Given the description of an element on the screen output the (x, y) to click on. 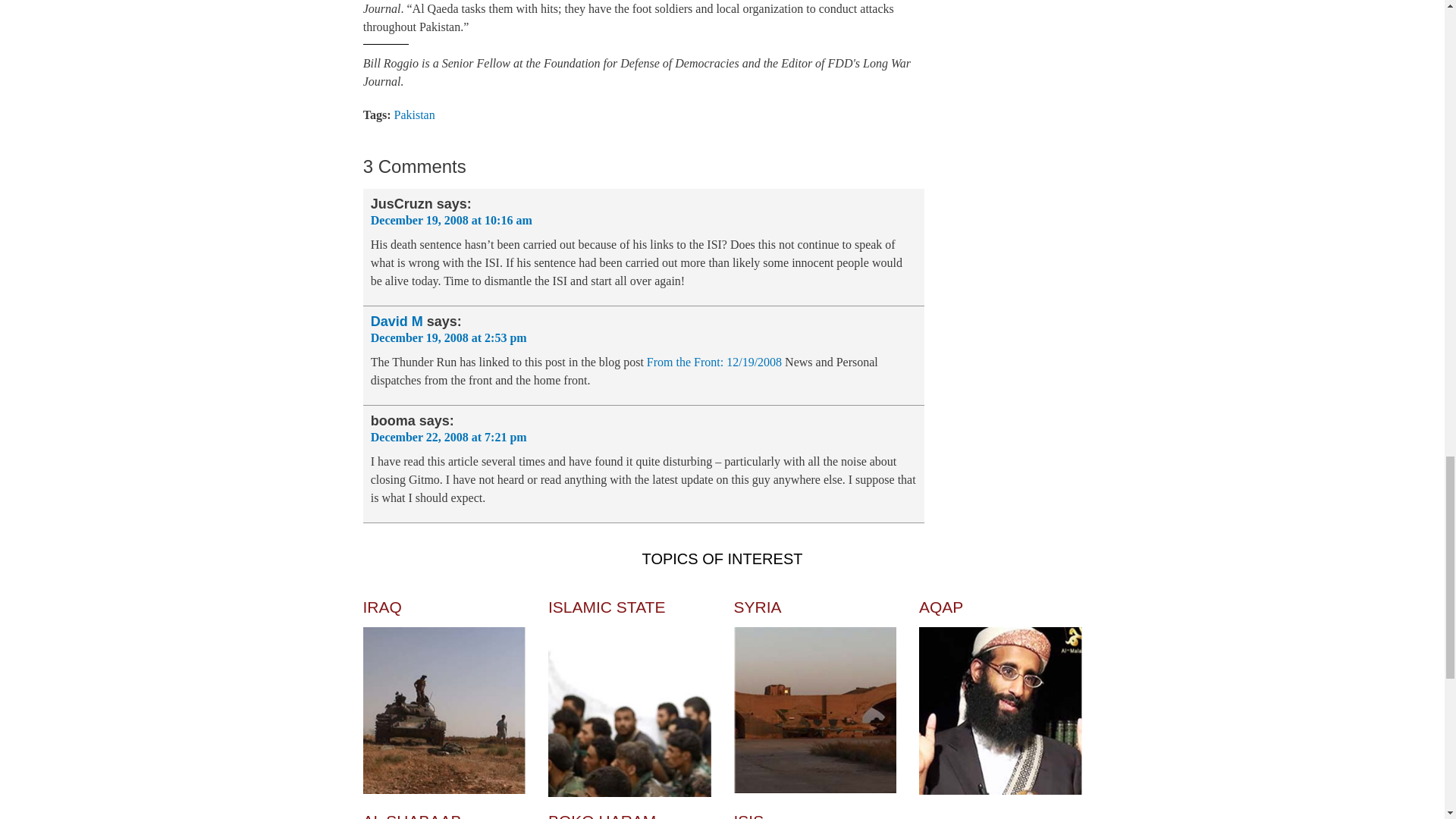
December 19, 2008 at 2:53 pm (449, 337)
December 19, 2008 at 10:16 am (451, 219)
Pakistan (414, 114)
December 22, 2008 at 7:21 pm (449, 436)
David M (397, 321)
